Given the description of an element on the screen output the (x, y) to click on. 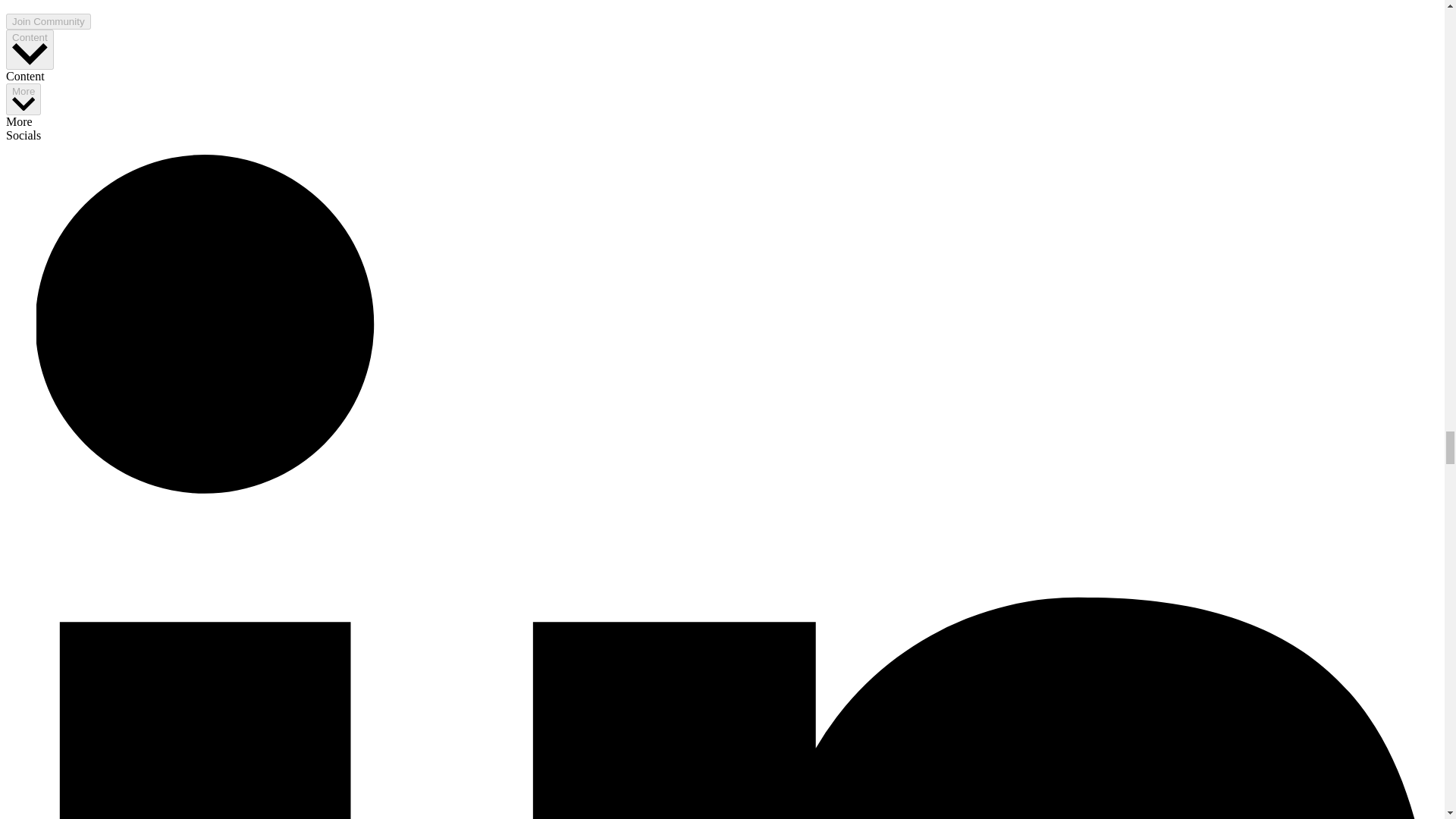
Join Community (47, 21)
